Given the description of an element on the screen output the (x, y) to click on. 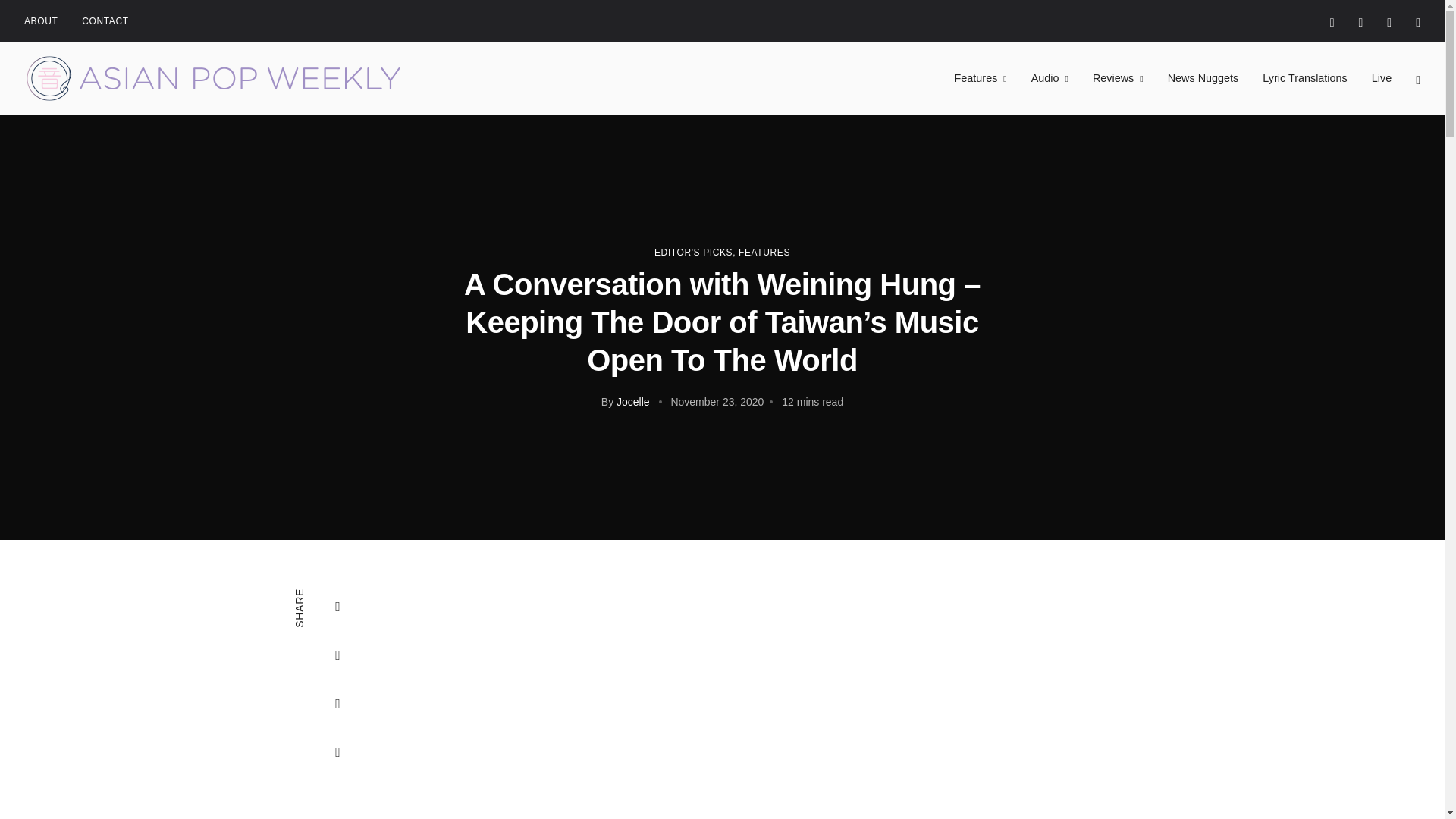
Jocelle (632, 401)
Twitter (338, 655)
EDITOR'S PICKS (692, 252)
Features (981, 78)
Facebook (338, 606)
Audio (1049, 78)
Lyric Translations (1304, 78)
News Nuggets (1203, 78)
ABOUT (41, 20)
Live (1381, 78)
